Given the description of an element on the screen output the (x, y) to click on. 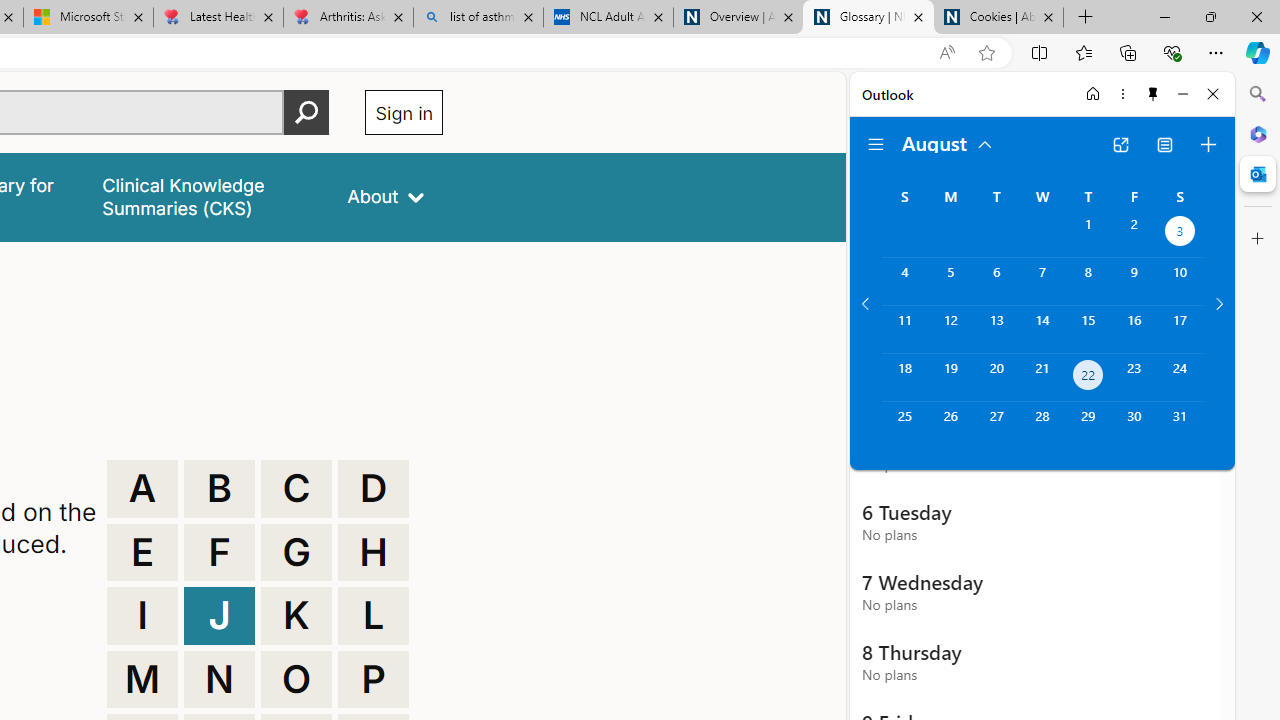
H (373, 551)
Tuesday, August 6, 2024.  (996, 281)
K (296, 615)
August (948, 141)
Wednesday, August 21, 2024.  (1042, 377)
Saturday, August 24, 2024.  (1180, 377)
K (296, 615)
Sunday, August 25, 2024.  (904, 425)
Friday, August 23, 2024.  (1134, 377)
